Given the description of an element on the screen output the (x, y) to click on. 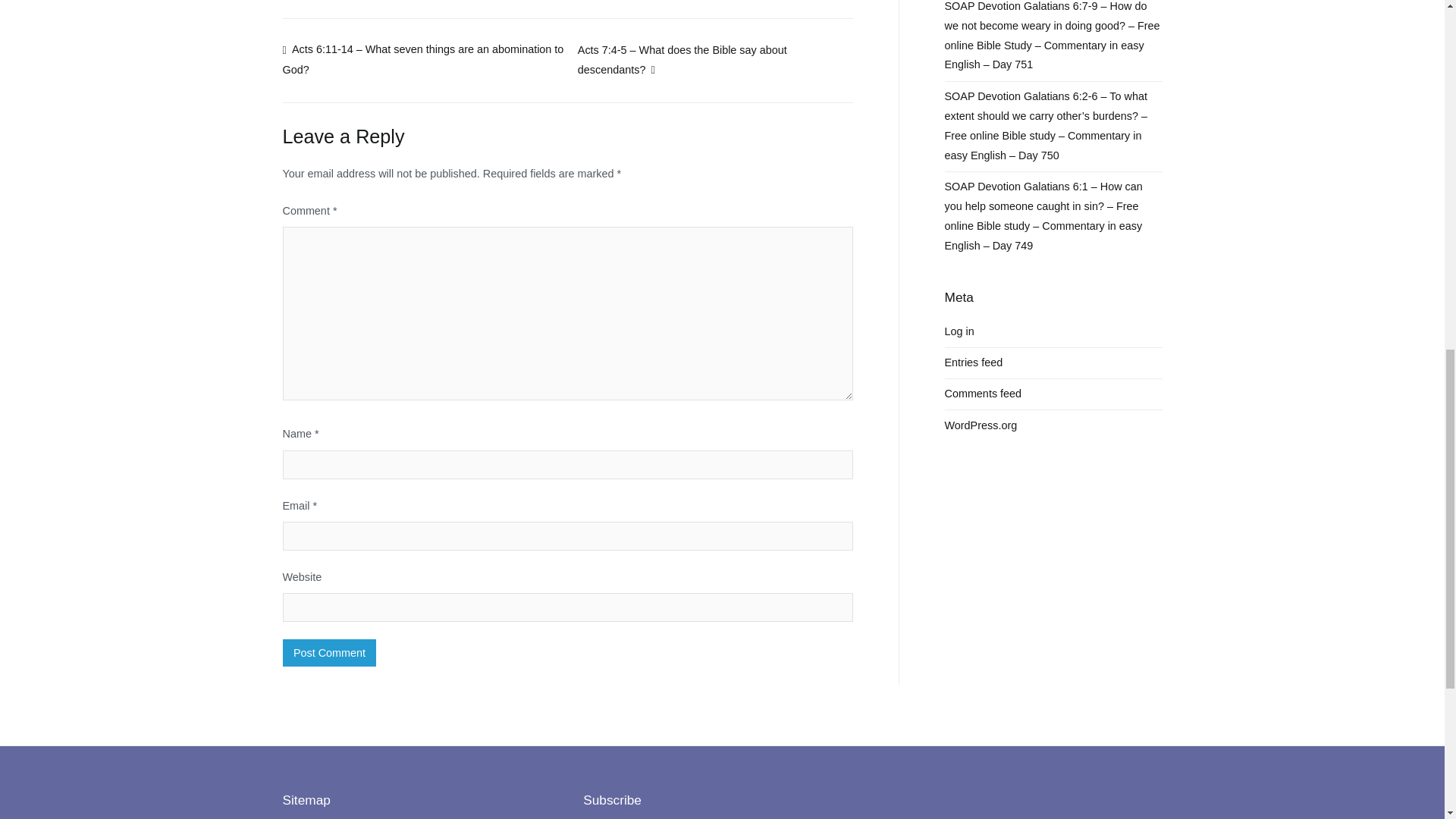
Post Comment (328, 652)
Post Comment (328, 652)
WordPress.org (980, 425)
Log in (959, 331)
Entries feed (973, 363)
Comments feed (983, 394)
